Given the description of an element on the screen output the (x, y) to click on. 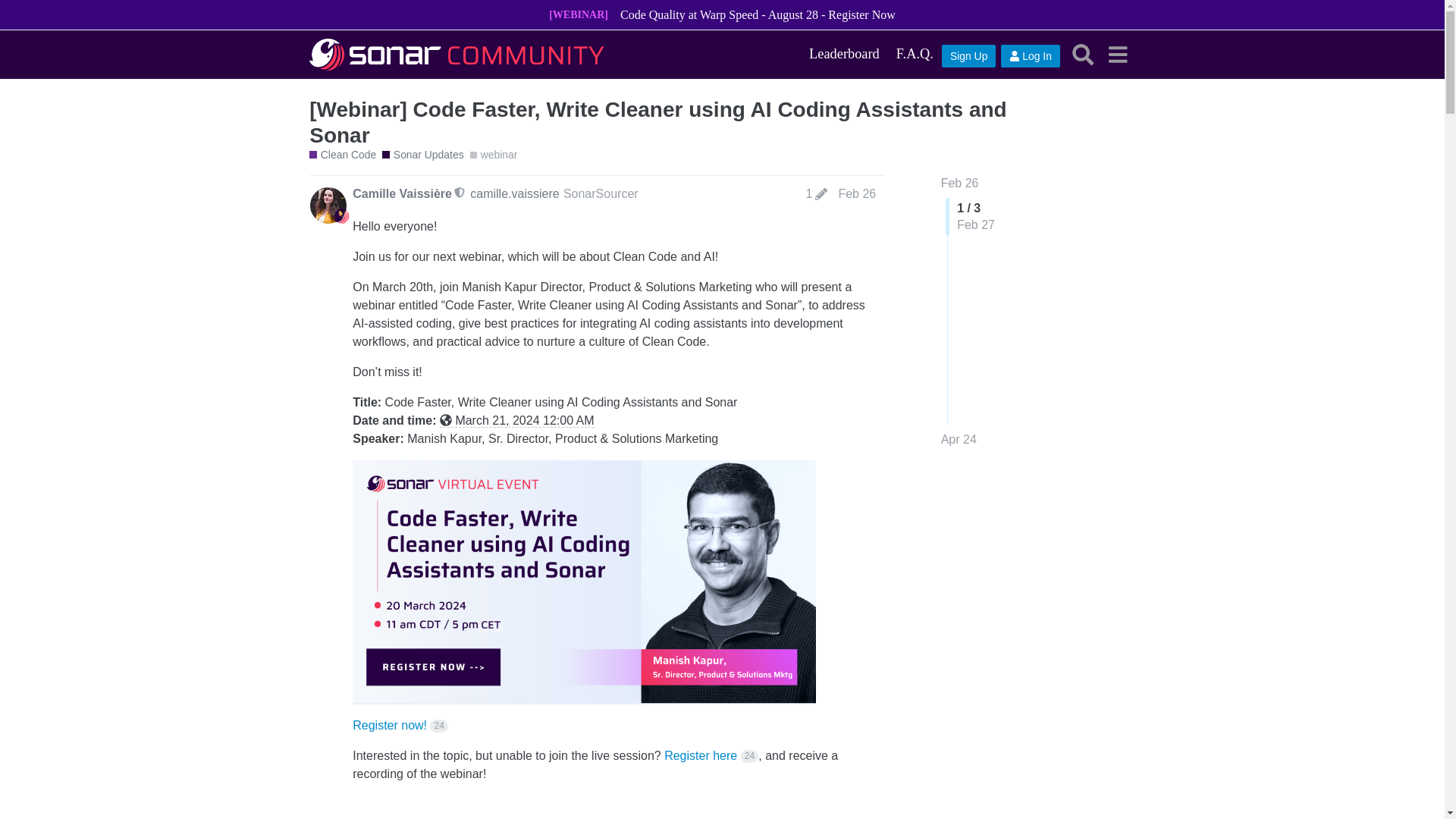
SonarSourcer (601, 193)
F.A.Q. (915, 53)
Sign Up (968, 56)
Jump to the first post (959, 182)
Sonar Updates (422, 155)
Feb 26 (857, 193)
post last edited on Apr 15, 2024 11:39 pm (815, 193)
camille.vaissiere (514, 193)
Register here 24 (710, 755)
Who's the most helpful active and supportive this week? (844, 53)
Log In (1030, 56)
Search (1082, 53)
sonarsourcers (341, 215)
1 (815, 193)
